Given the description of an element on the screen output the (x, y) to click on. 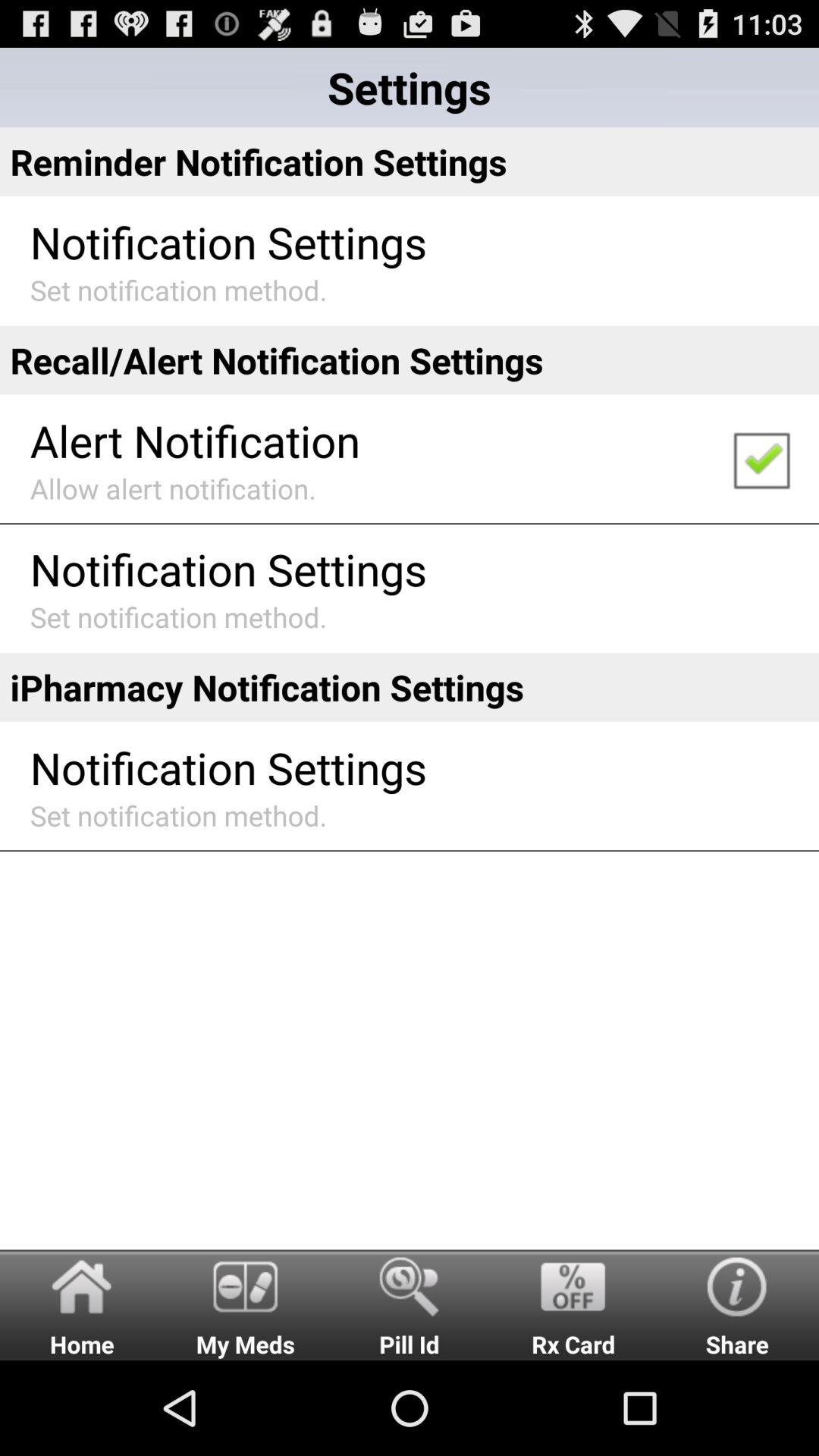
launch the radio button next to the my meds (81, 1304)
